Given the description of an element on the screen output the (x, y) to click on. 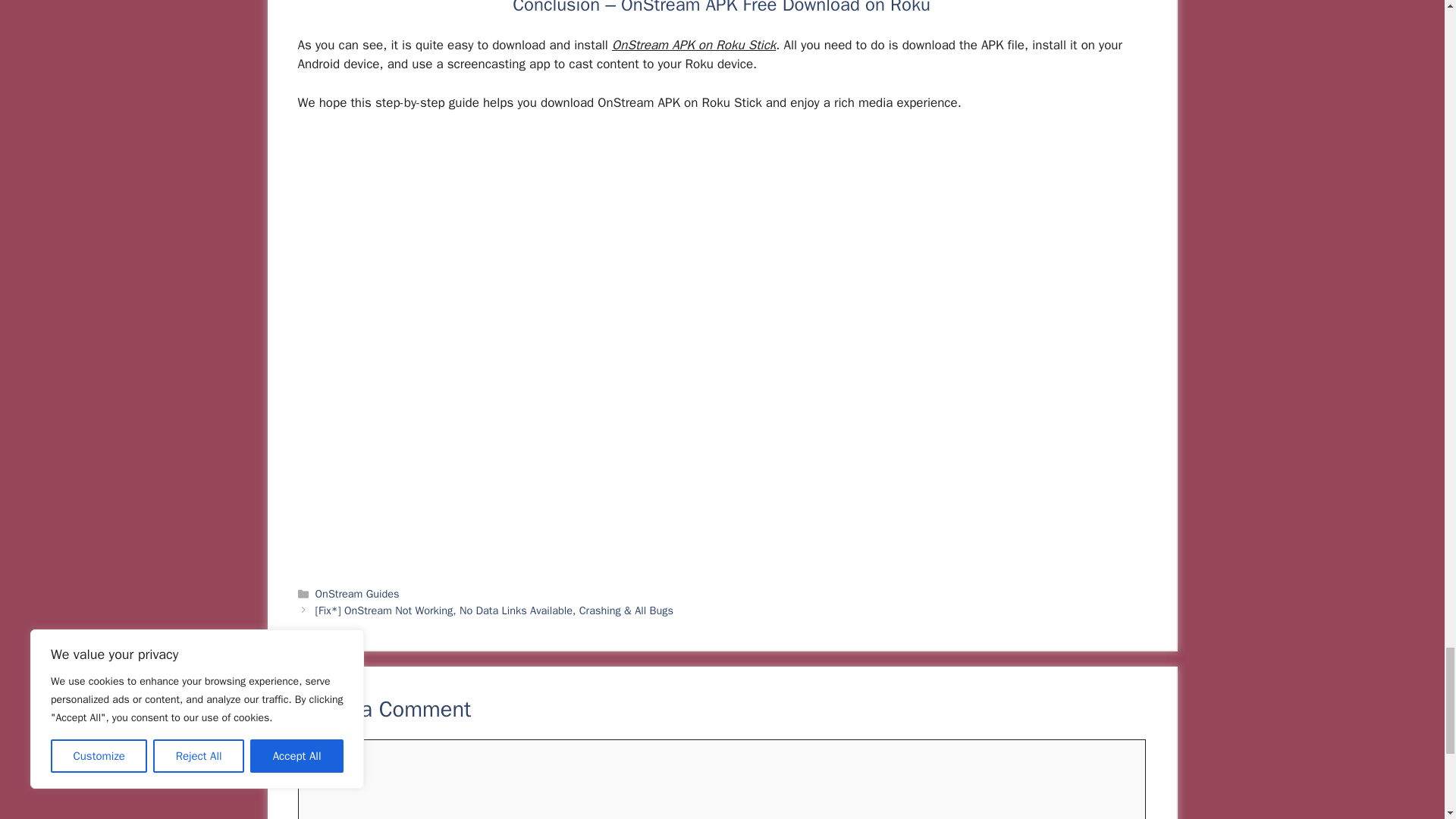
OnStream Guides (356, 593)
